Given the description of an element on the screen output the (x, y) to click on. 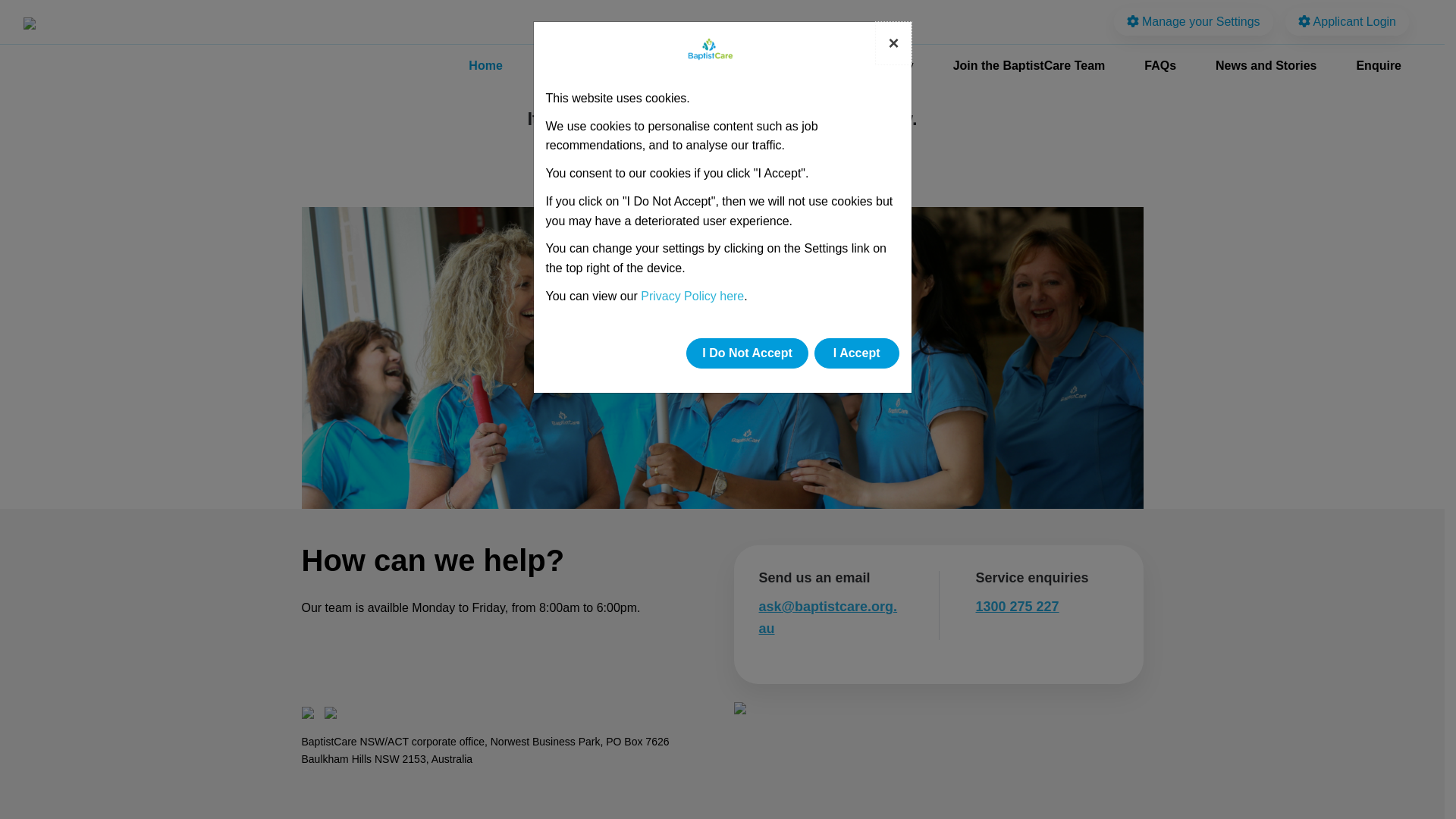
Manage your Settings Element type: text (1193, 21)
Join the BaptistCare Team Element type: text (1029, 65)
News and Stories Element type: text (1265, 65)
CLICK HERE TO VIEW ALL AGED CARE JOBS Element type: text (721, 163)
Privacy Policy here Element type: text (691, 295)
1300 275 227 Element type: text (1016, 606)
How To Apply Element type: text (873, 65)
I Do Not Accept Element type: text (747, 353)
Applicant Login Element type: text (1346, 21)
Home Element type: text (485, 65)
Enquire Element type: text (1378, 65)
ask@baptistcare.org.au Element type: text (827, 617)
Employee Benefits Element type: text (740, 65)
FAQs Element type: text (1160, 65)
I Accept Element type: text (856, 353)
Job Opportunities
(current) Element type: text (594, 65)
